Given the description of an element on the screen output the (x, y) to click on. 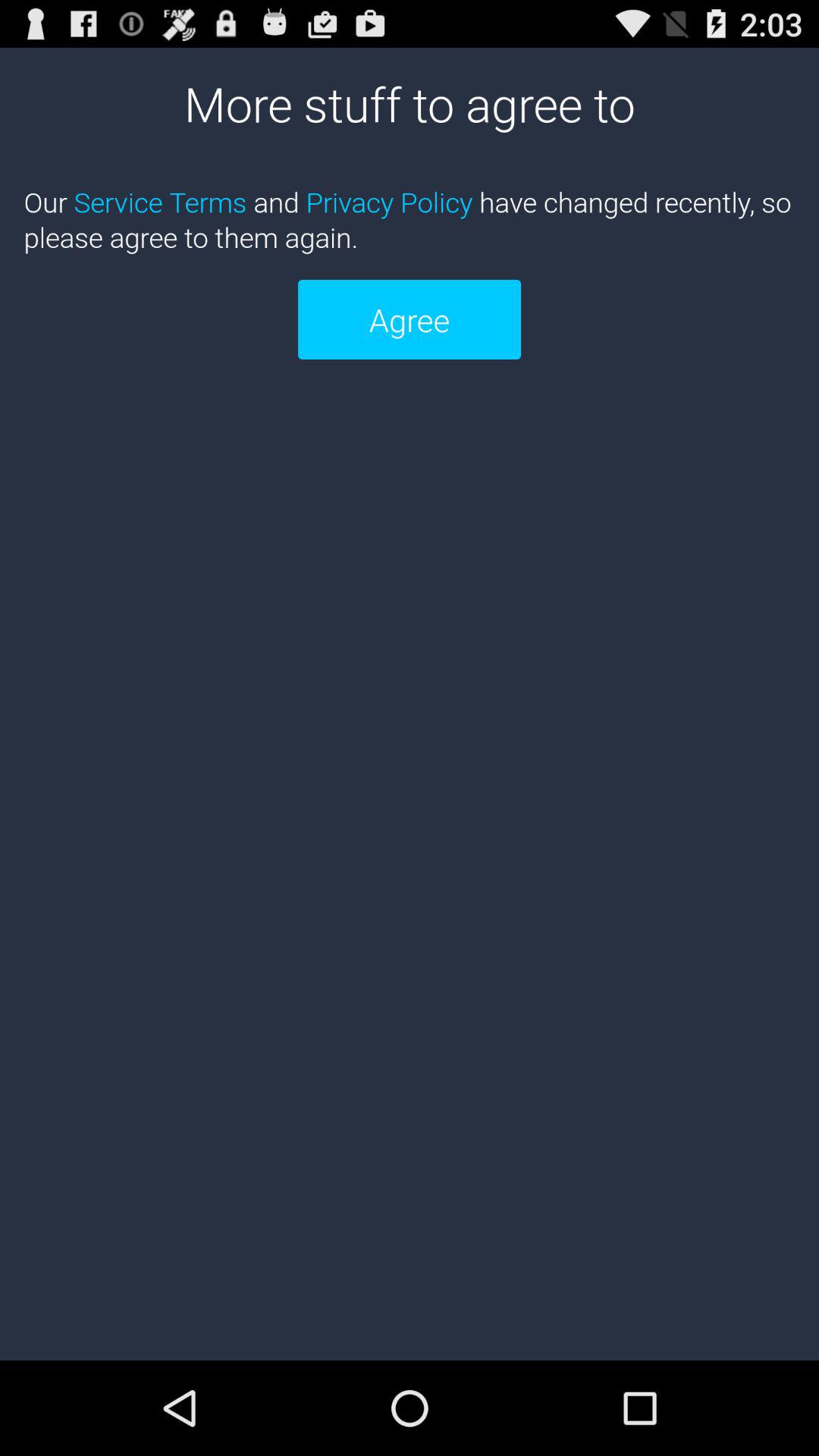
select the our service terms (409, 219)
